Given the description of an element on the screen output the (x, y) to click on. 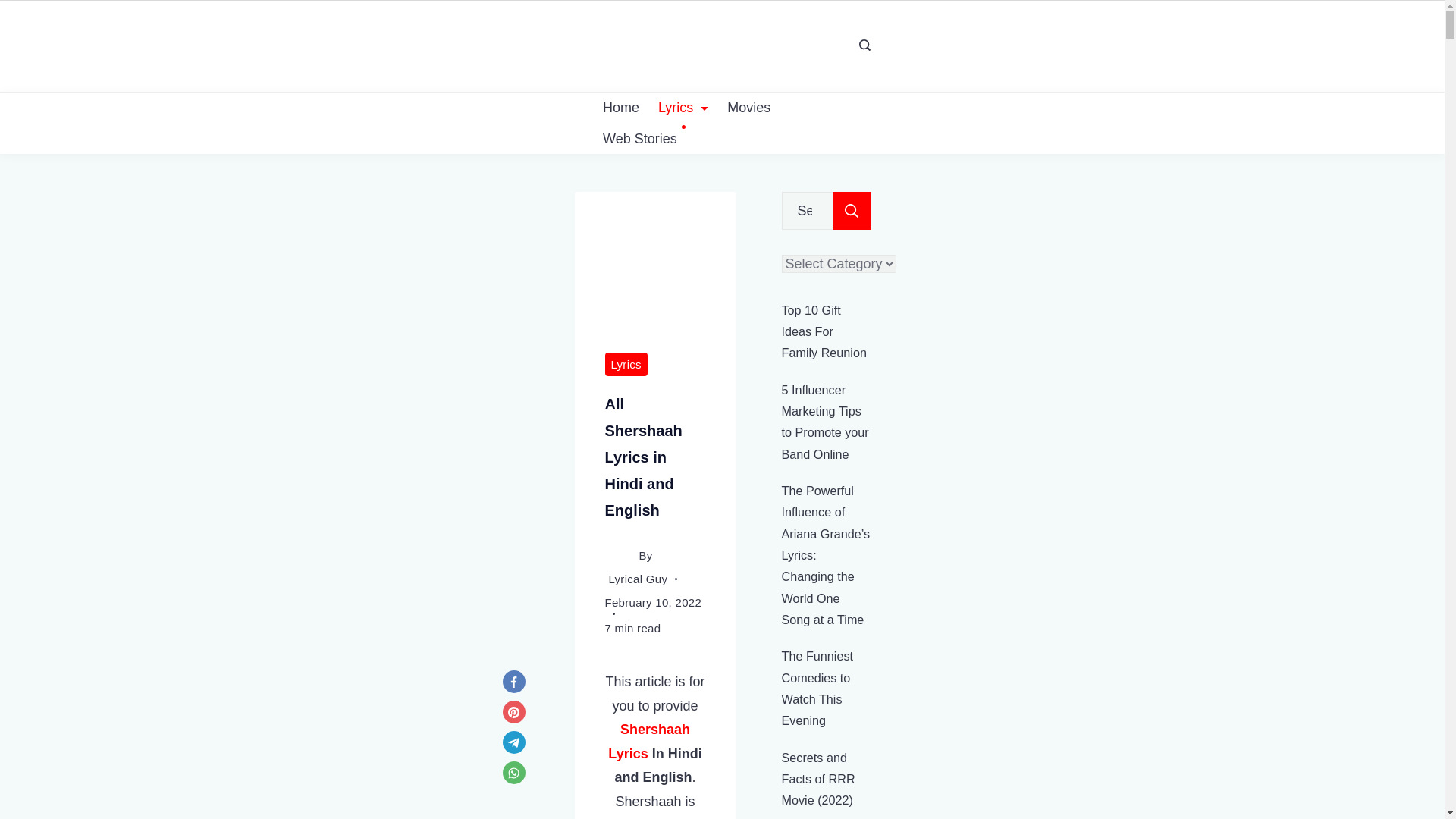
Lyrics (683, 107)
Lyrics (626, 363)
Search (851, 210)
Search (851, 210)
Shershaah (655, 729)
Web Stories (638, 137)
Home (619, 107)
Lyrics (629, 753)
Movies (748, 107)
Lyrical Guy (637, 577)
